Given the description of an element on the screen output the (x, y) to click on. 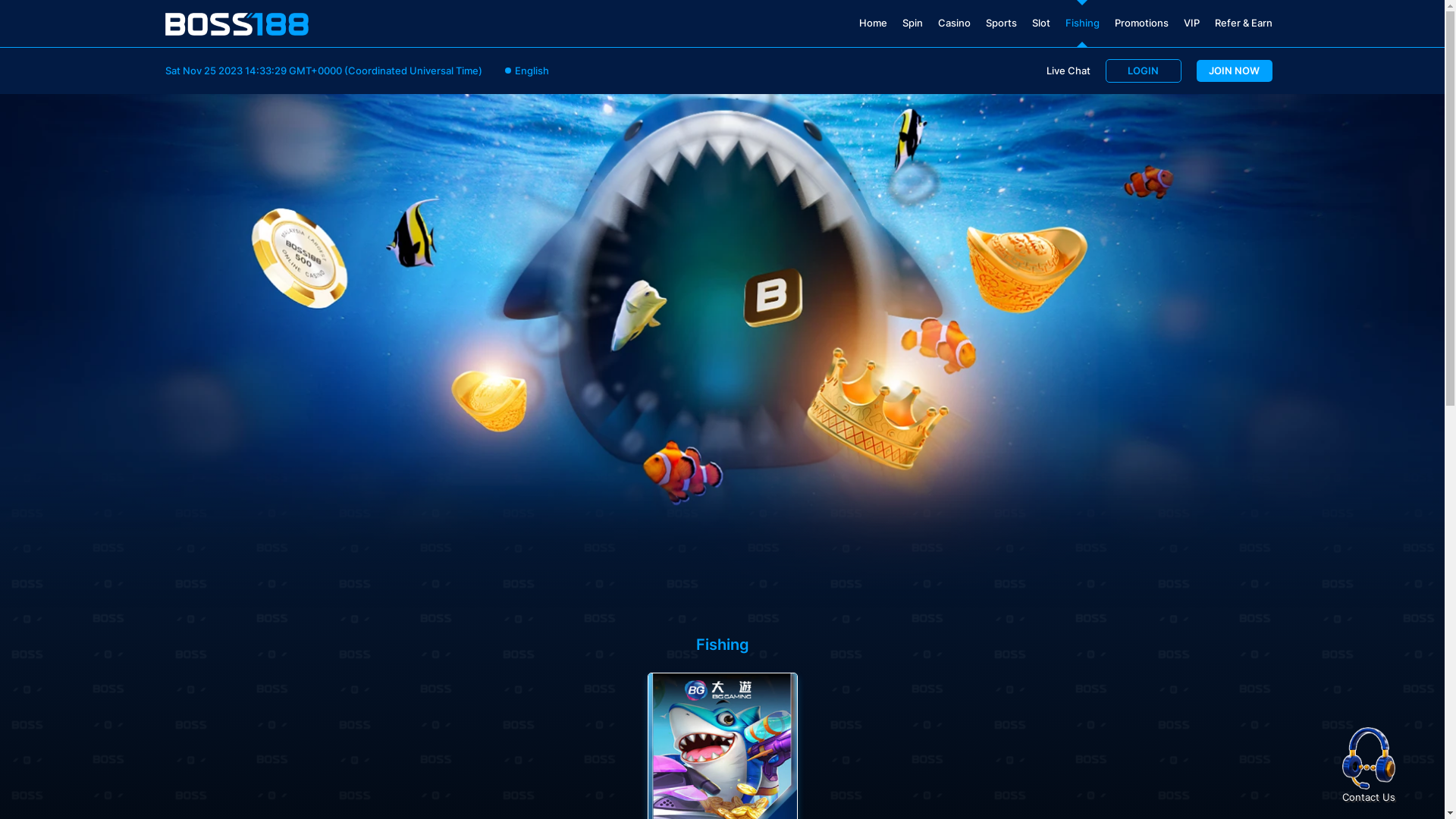
Casino Element type: text (953, 23)
Promotions Element type: text (1141, 23)
VIP Element type: text (1190, 23)
JOIN NOW Element type: text (1234, 70)
Slot Element type: text (1040, 23)
Sports Element type: text (1000, 23)
Spin Element type: text (912, 23)
Home Element type: text (872, 23)
Fishing Element type: text (1081, 23)
Refer & Earn Element type: text (1243, 23)
Live Chat Element type: text (1068, 70)
LOGIN Element type: text (1143, 71)
